Given the description of an element on the screen output the (x, y) to click on. 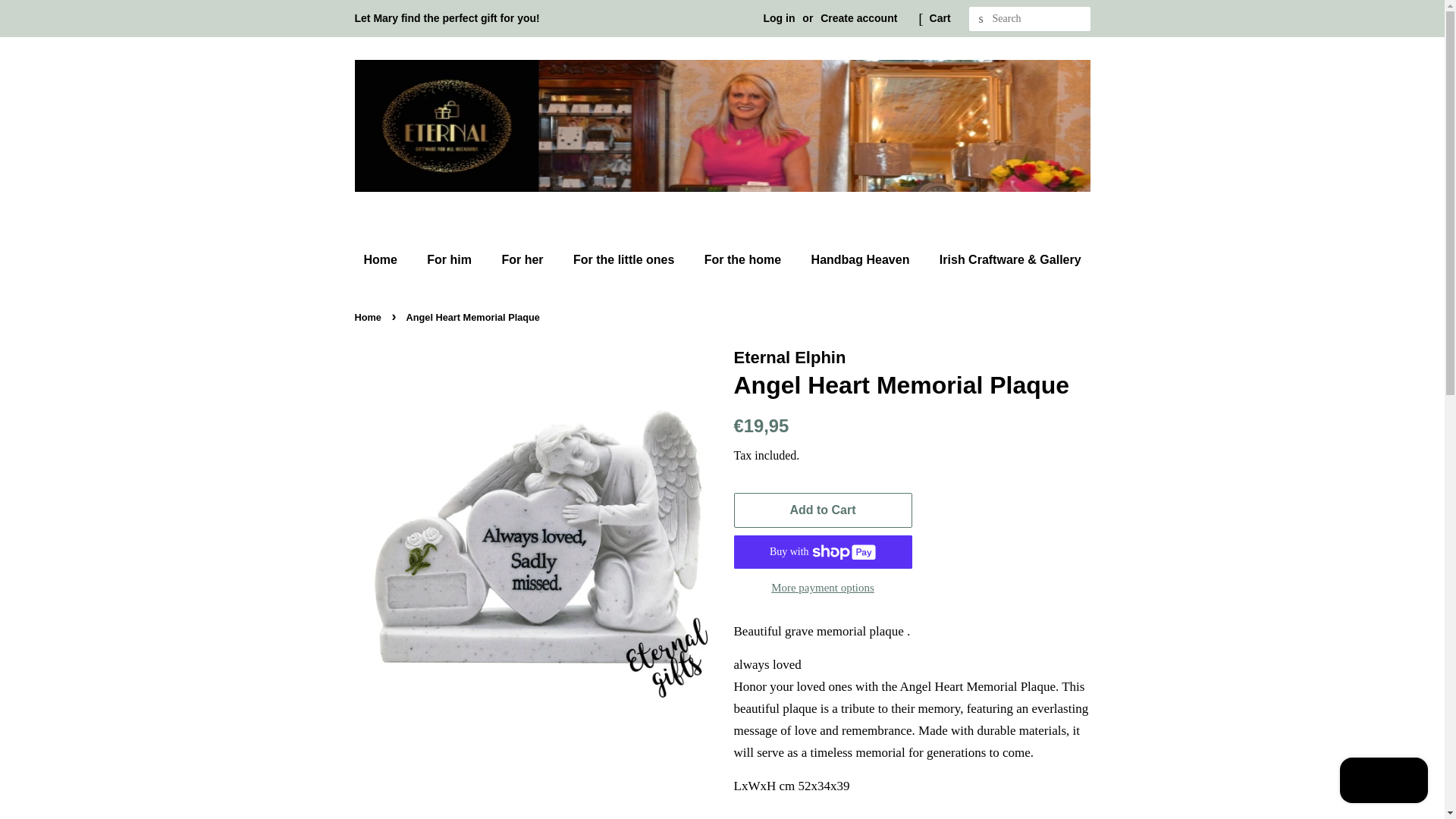
Add to Cart (822, 510)
Home (370, 317)
Search (980, 18)
Handbag Heaven (861, 259)
More payment options (822, 587)
Home (387, 259)
Let Mary find the perfect gift for you! (447, 18)
For him (450, 259)
Cart (940, 18)
For the little ones (625, 259)
